Given the description of an element on the screen output the (x, y) to click on. 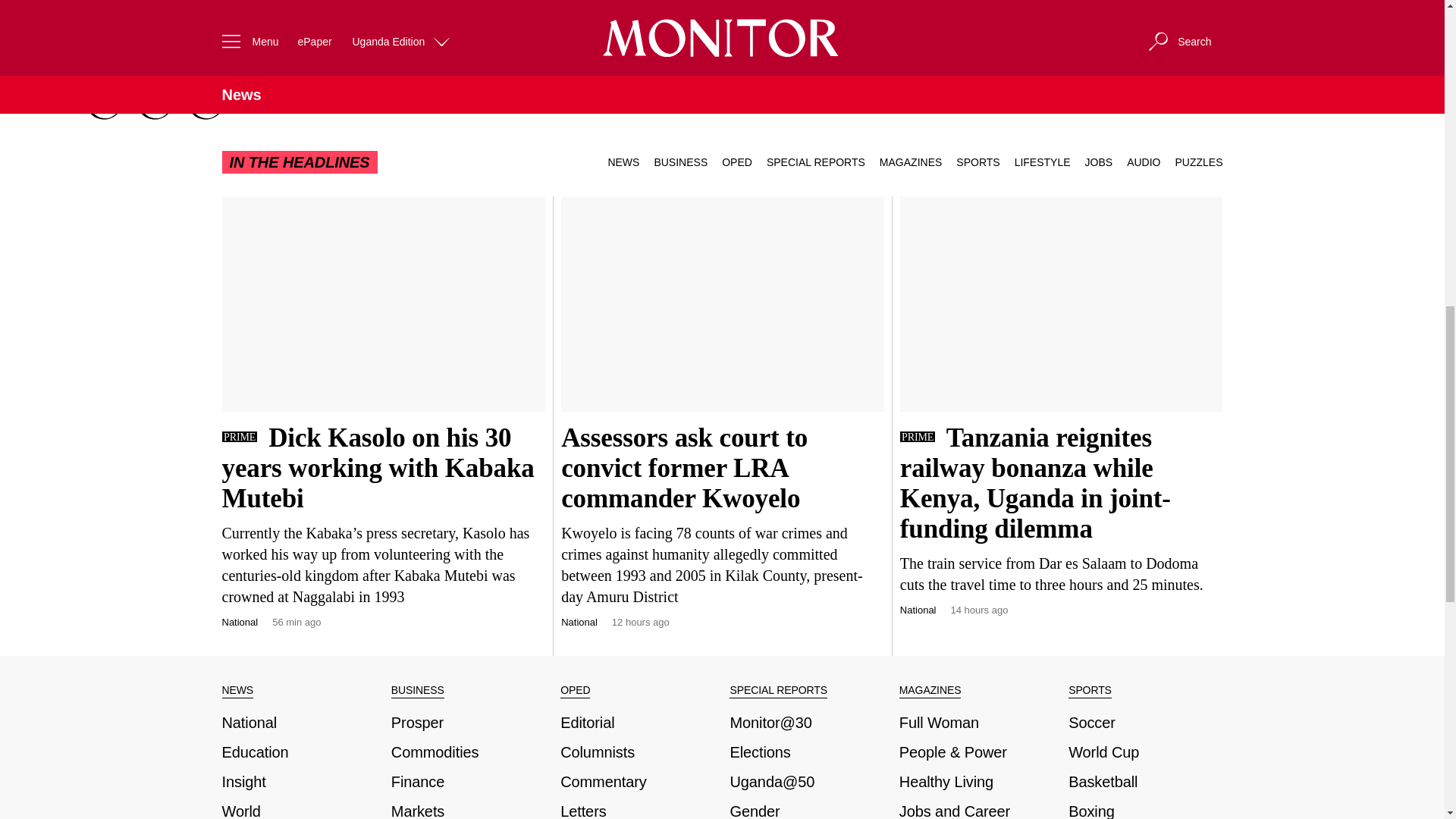
PRIME (238, 436)
PRIME (916, 436)
